Given the description of an element on the screen output the (x, y) to click on. 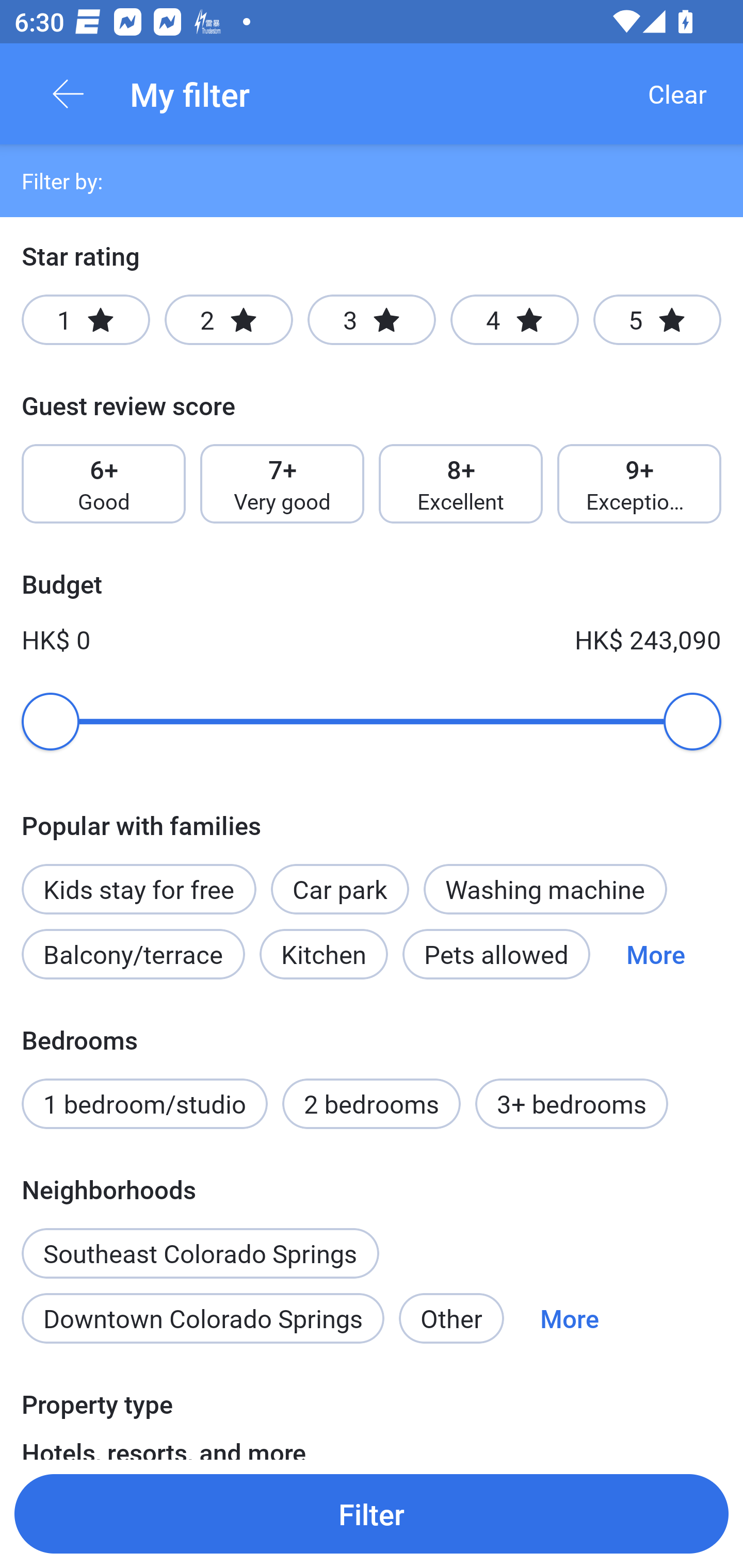
Clear (676, 93)
1 (85, 319)
2 (228, 319)
3 (371, 319)
4 (514, 319)
5 (657, 319)
6+ Good (103, 483)
7+ Very good (281, 483)
8+ Excellent (460, 483)
9+ Exceptional (639, 483)
Kids stay for free (138, 888)
Car park (340, 888)
Washing machine (545, 888)
Balcony/terrace (133, 954)
Kitchen (323, 954)
Pets allowed (495, 954)
More (655, 954)
1 bedroom/studio (144, 1103)
2 bedrooms (371, 1103)
3+ bedrooms (571, 1103)
Southeast Colorado Springs (199, 1242)
Downtown Colorado Springs (202, 1317)
Other (450, 1317)
More (569, 1317)
Filter (371, 1513)
